Given the description of an element on the screen output the (x, y) to click on. 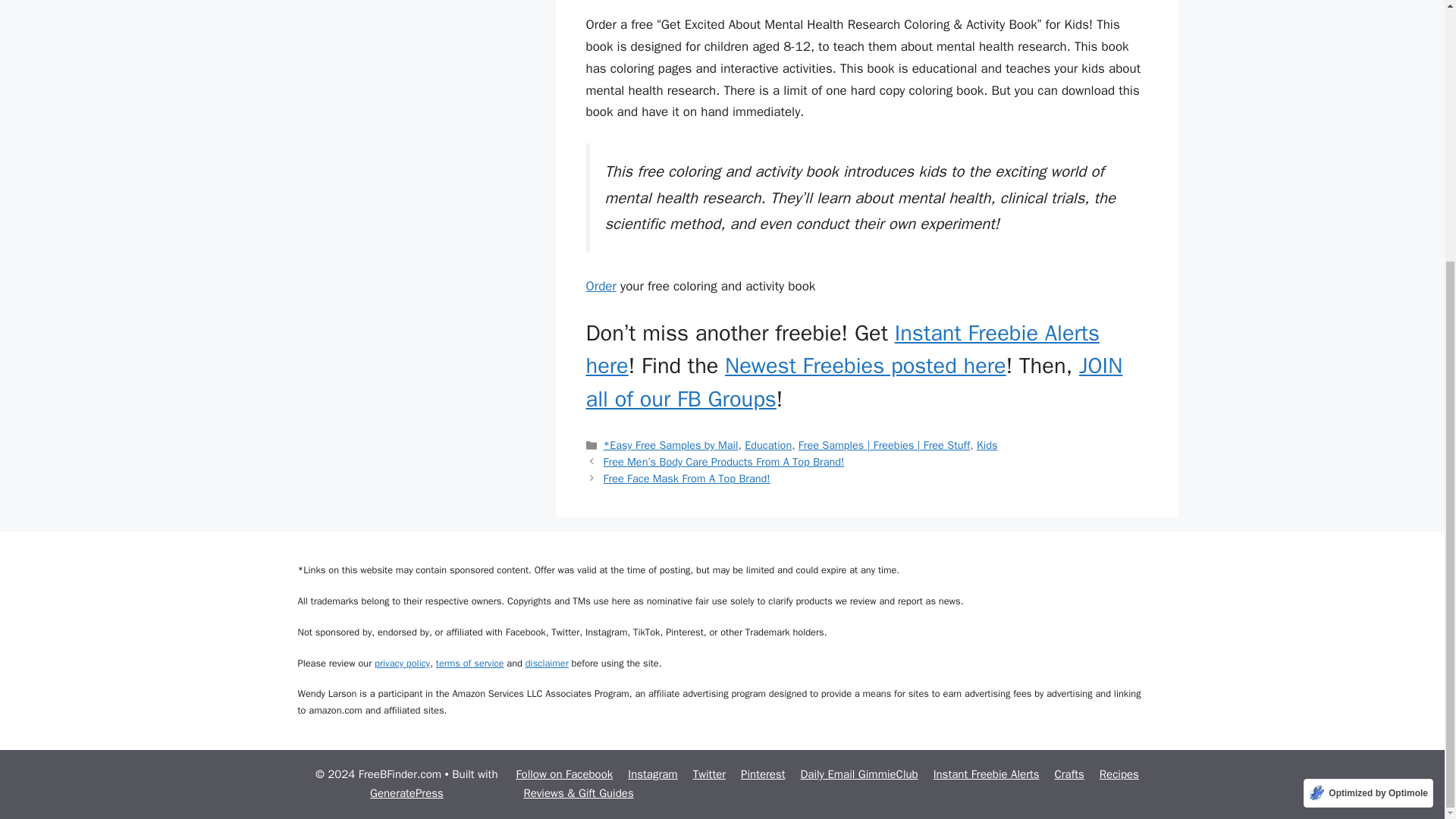
Order (600, 286)
Instant Freebie Alerts here (842, 349)
